Given the description of an element on the screen output the (x, y) to click on. 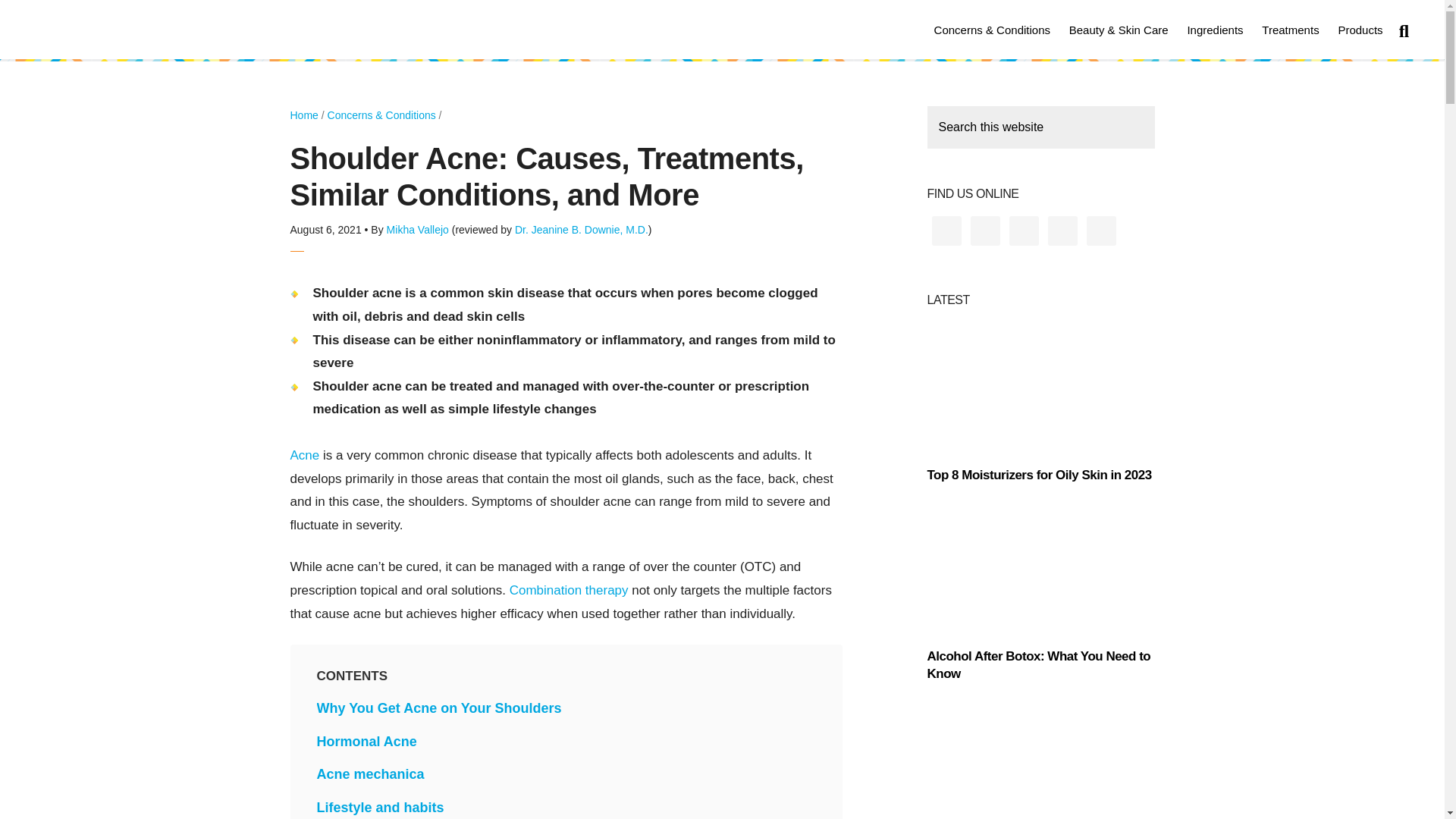
Hormonal Acne (366, 741)
Treatments (1289, 29)
Why You Get Acne on Your Shoulders (439, 708)
Ingredients (1214, 29)
Acne mechanica (371, 774)
